Given the description of an element on the screen output the (x, y) to click on. 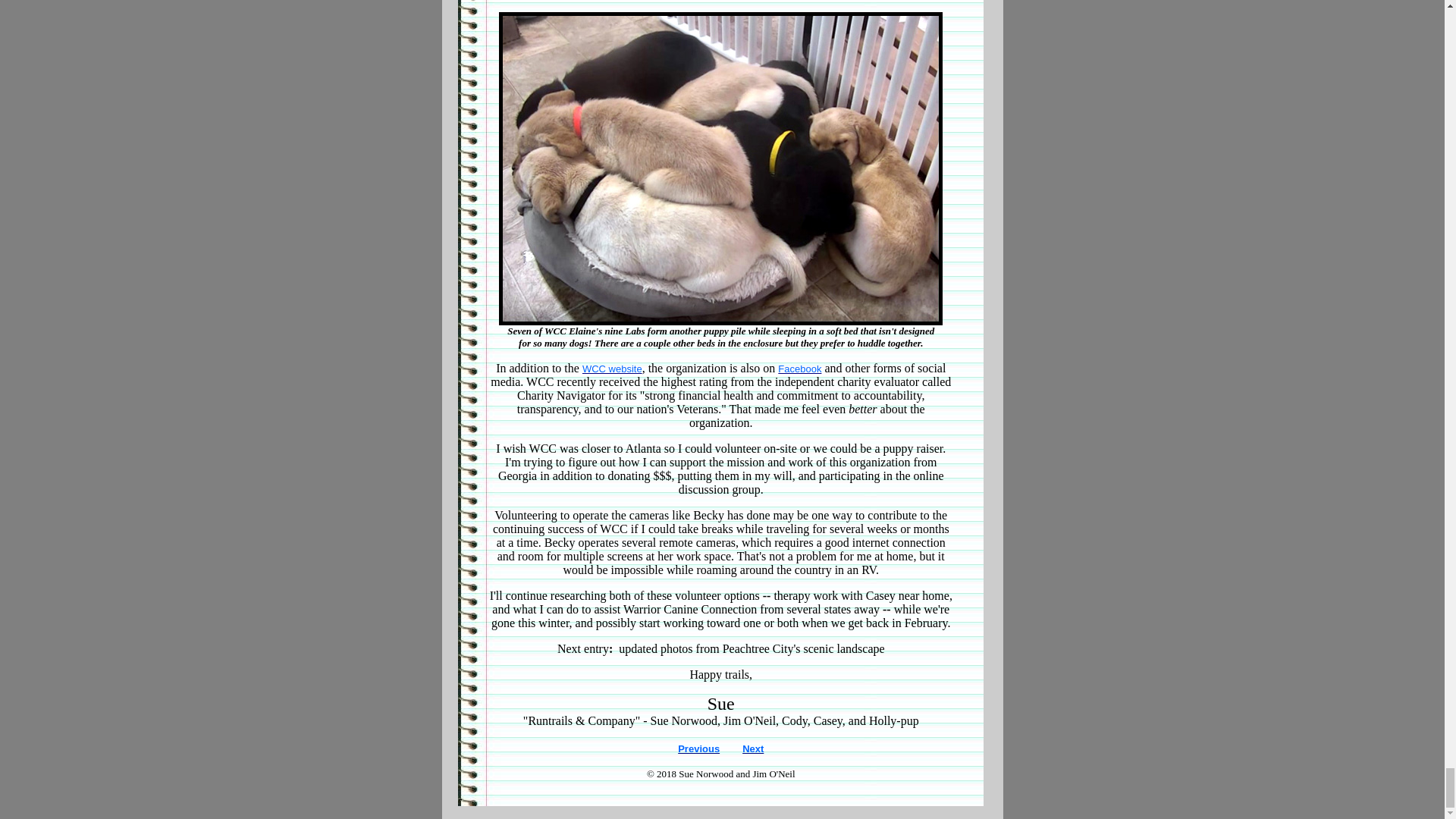
Previous (698, 748)
WCC website (612, 368)
Facebook (799, 368)
Next (752, 748)
